Given the description of an element on the screen output the (x, y) to click on. 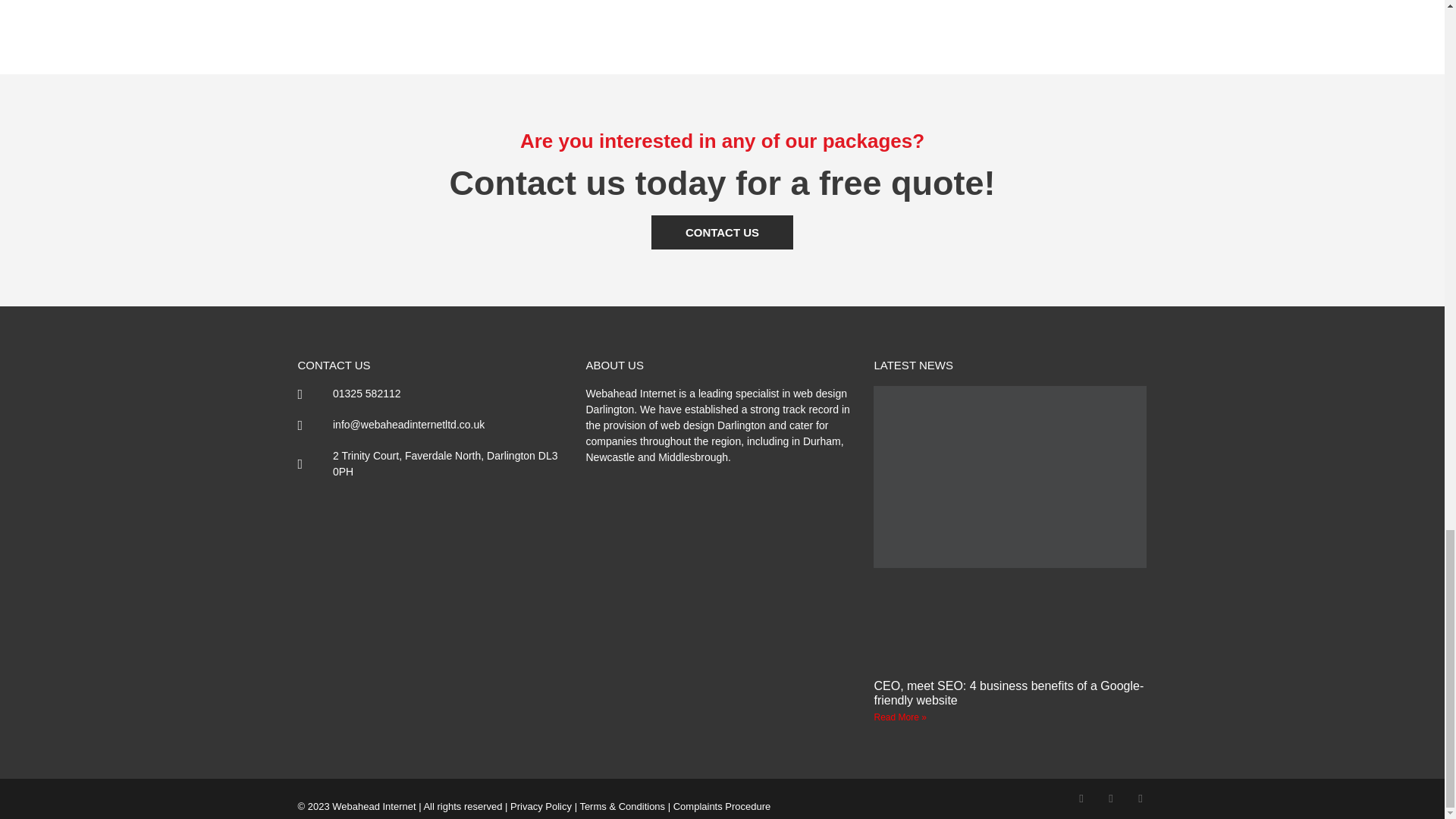
Privacy Policy (541, 806)
CONTACT US (721, 232)
01325 582112 (433, 393)
Complaints Procedure (721, 806)
